Given the description of an element on the screen output the (x, y) to click on. 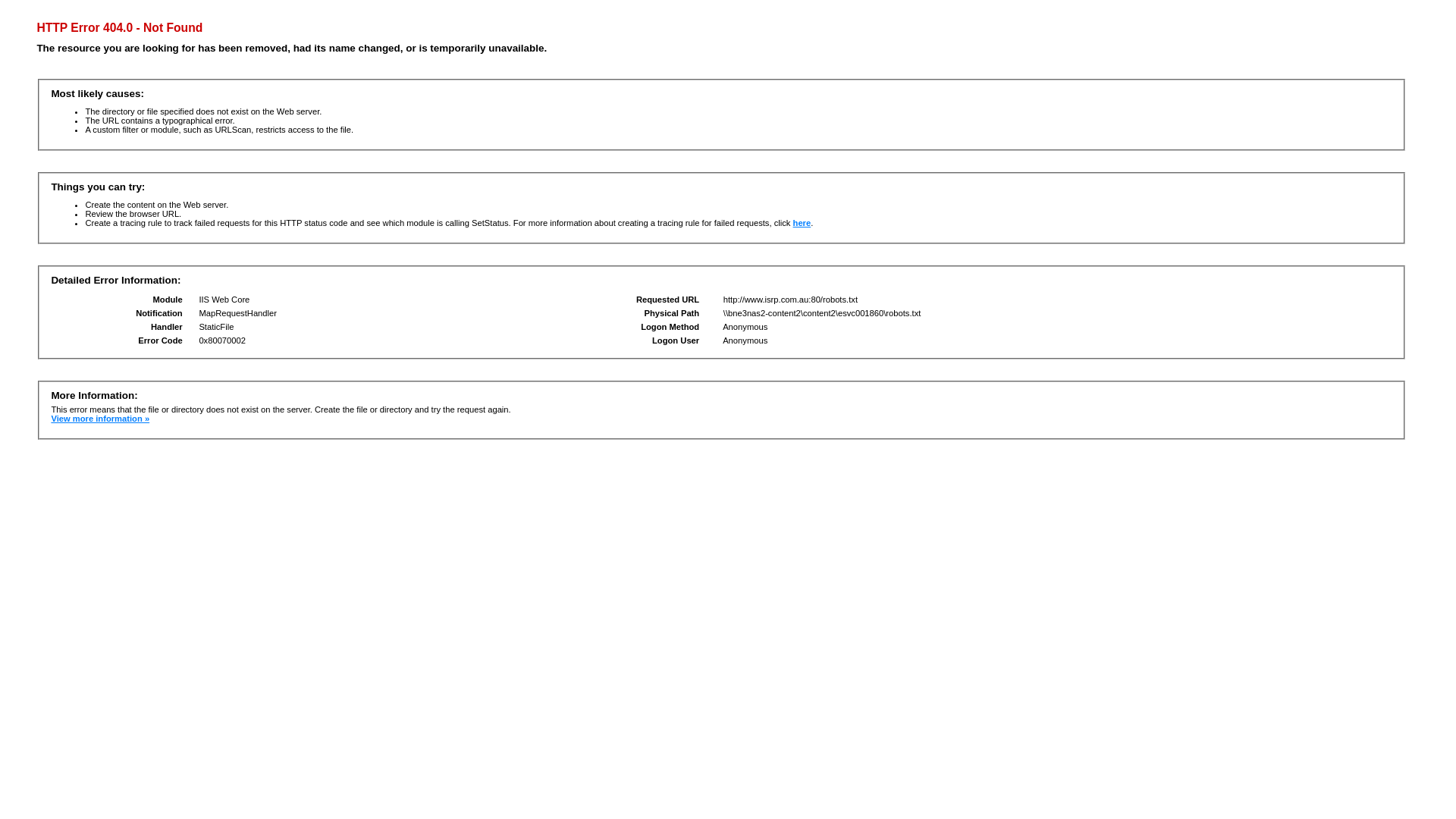
here Element type: text (802, 222)
